Given the description of an element on the screen output the (x, y) to click on. 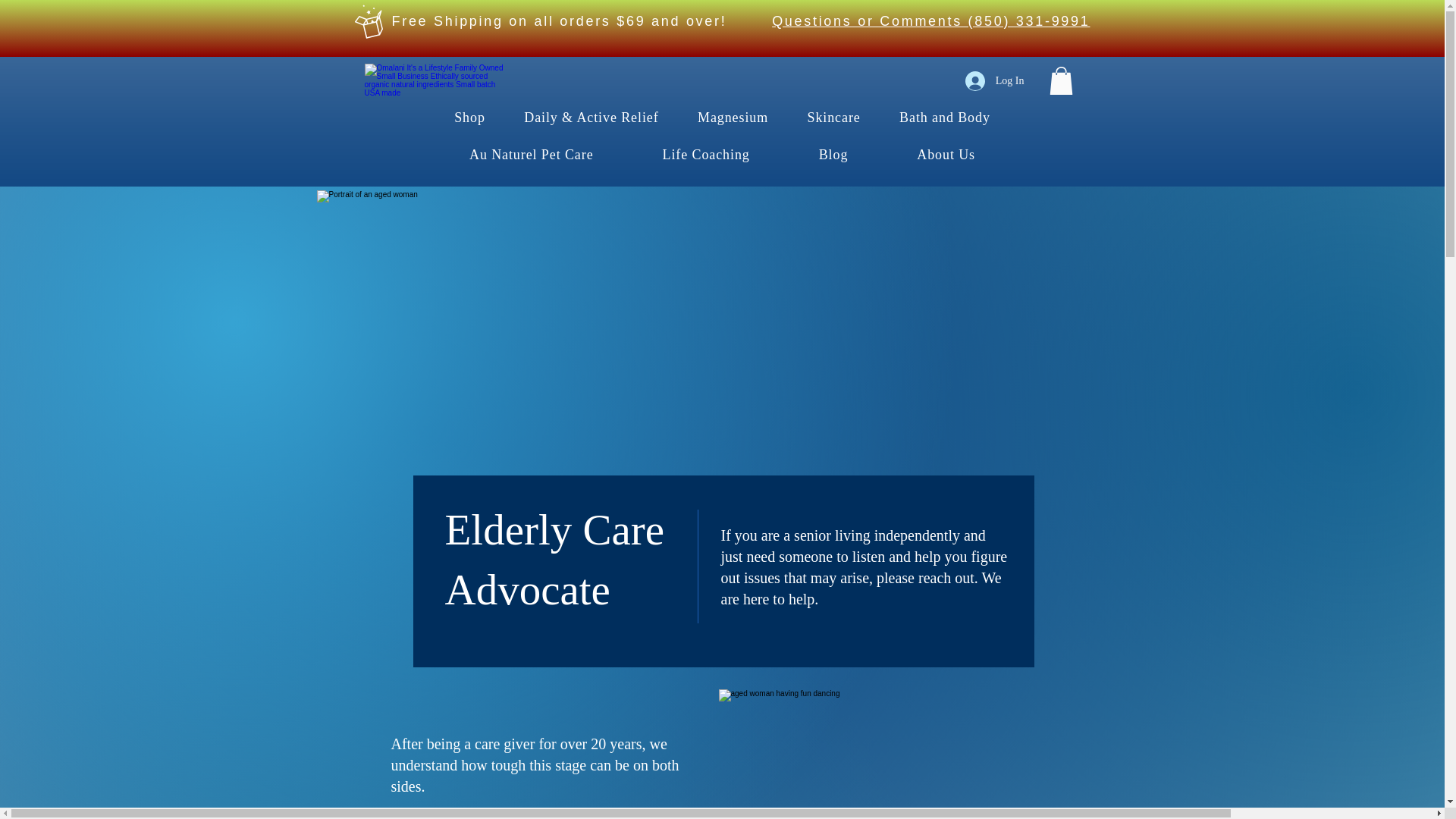
About Us (946, 154)
Bath and Body (944, 117)
Log In (995, 80)
Blog (833, 154)
Au Naturel Pet Care (532, 154)
Magnesium (732, 117)
Skincare (833, 117)
Shop (470, 117)
